Given the description of an element on the screen output the (x, y) to click on. 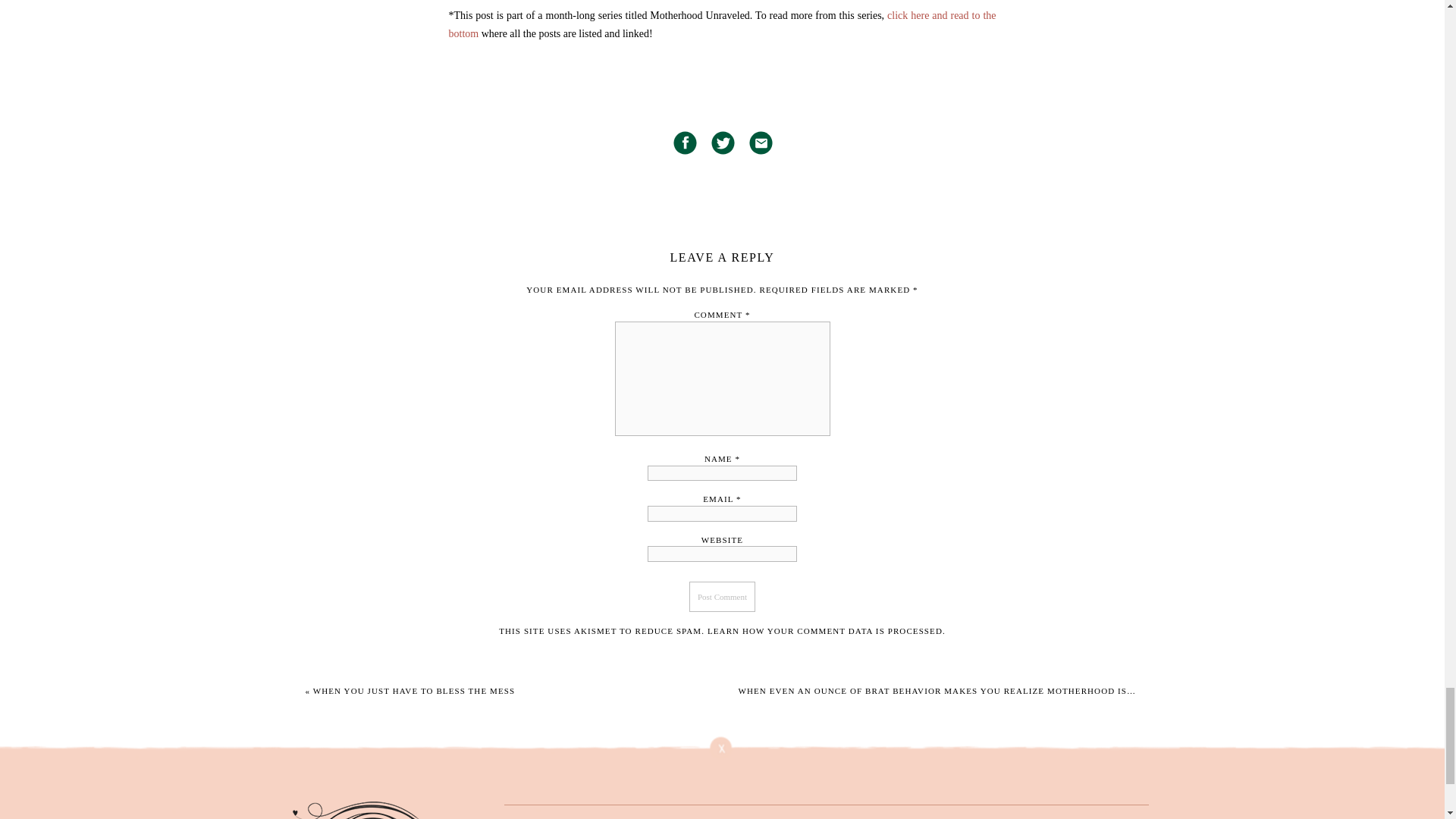
LEARN HOW YOUR COMMENT DATA IS PROCESSED (824, 630)
Post Comment (721, 596)
Post Comment (721, 596)
Motherhood Unraveled (721, 24)
WHEN YOU JUST HAVE TO BLESS THE MESS (414, 690)
click here and read to the bottom (721, 24)
